Given the description of an element on the screen output the (x, y) to click on. 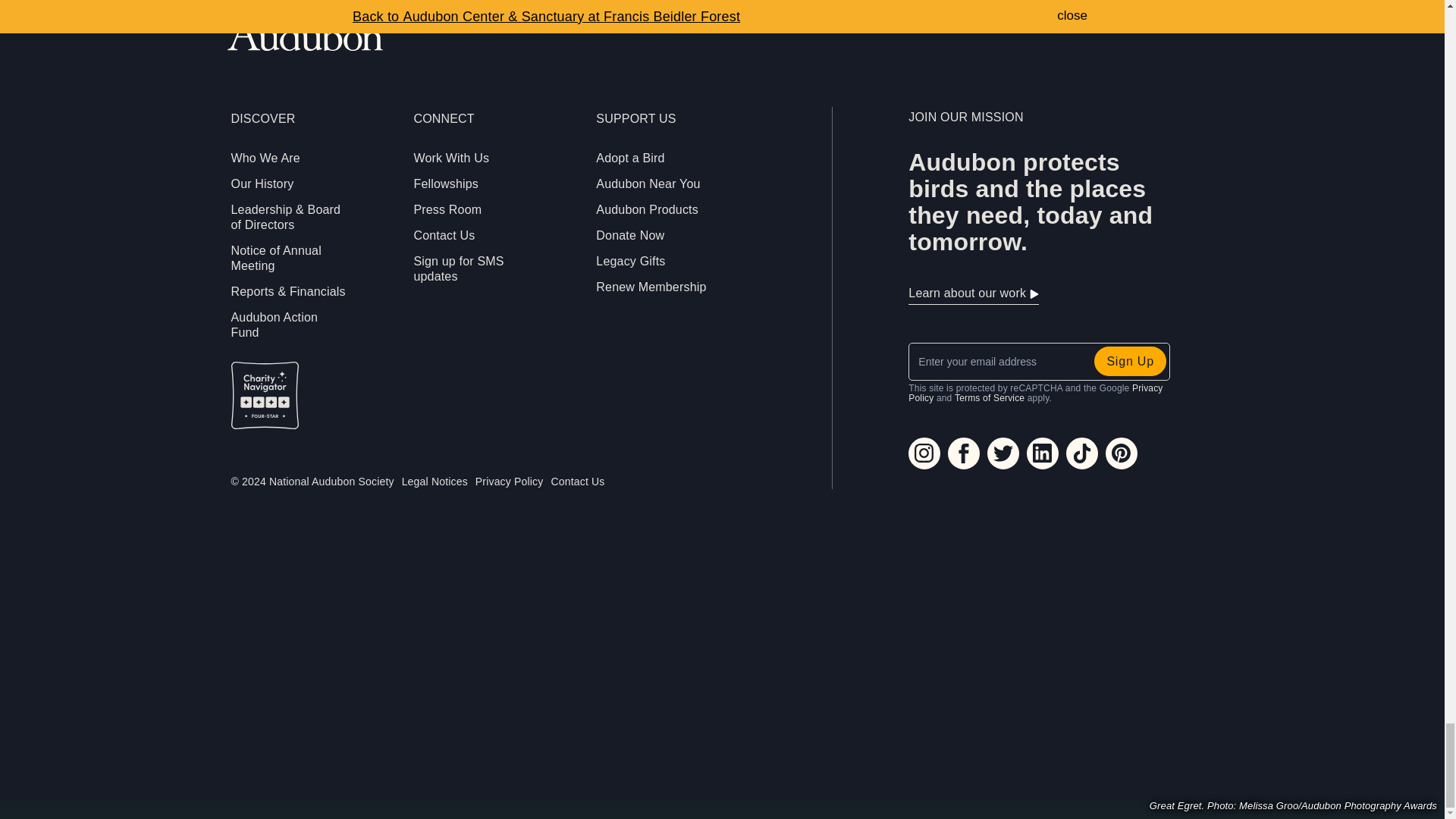
Audubon on Tiktok (1081, 453)
Audubon on Pinterest (1121, 453)
Audubon on Twitter (1003, 453)
Audubon on Instagram (924, 453)
Audubon on LinkedIn (1042, 453)
Sign Up (1130, 360)
Audubon on Facebook (963, 453)
